Given the description of an element on the screen output the (x, y) to click on. 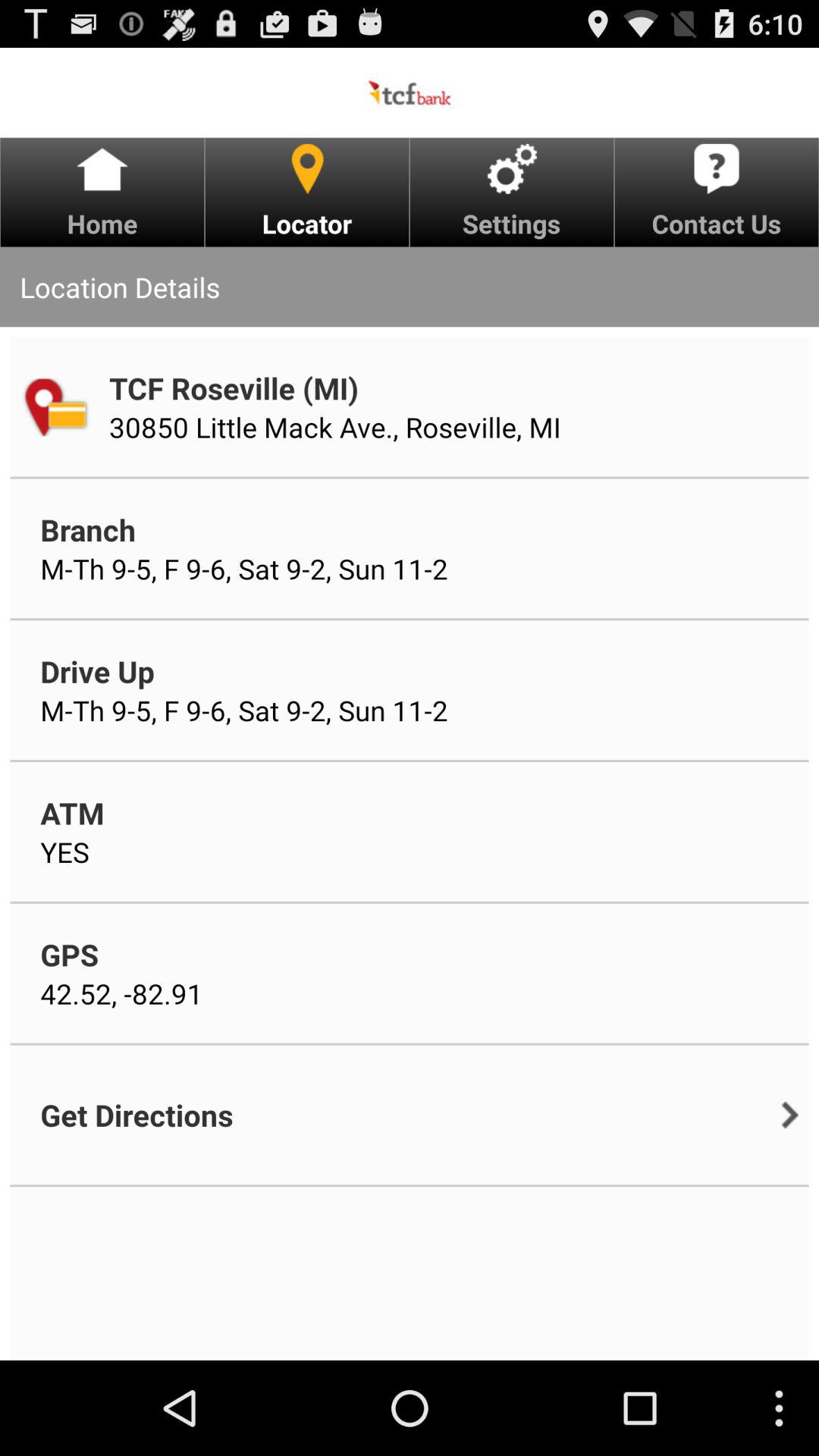
open the item to the right of the get directions item (789, 1114)
